Given the description of an element on the screen output the (x, y) to click on. 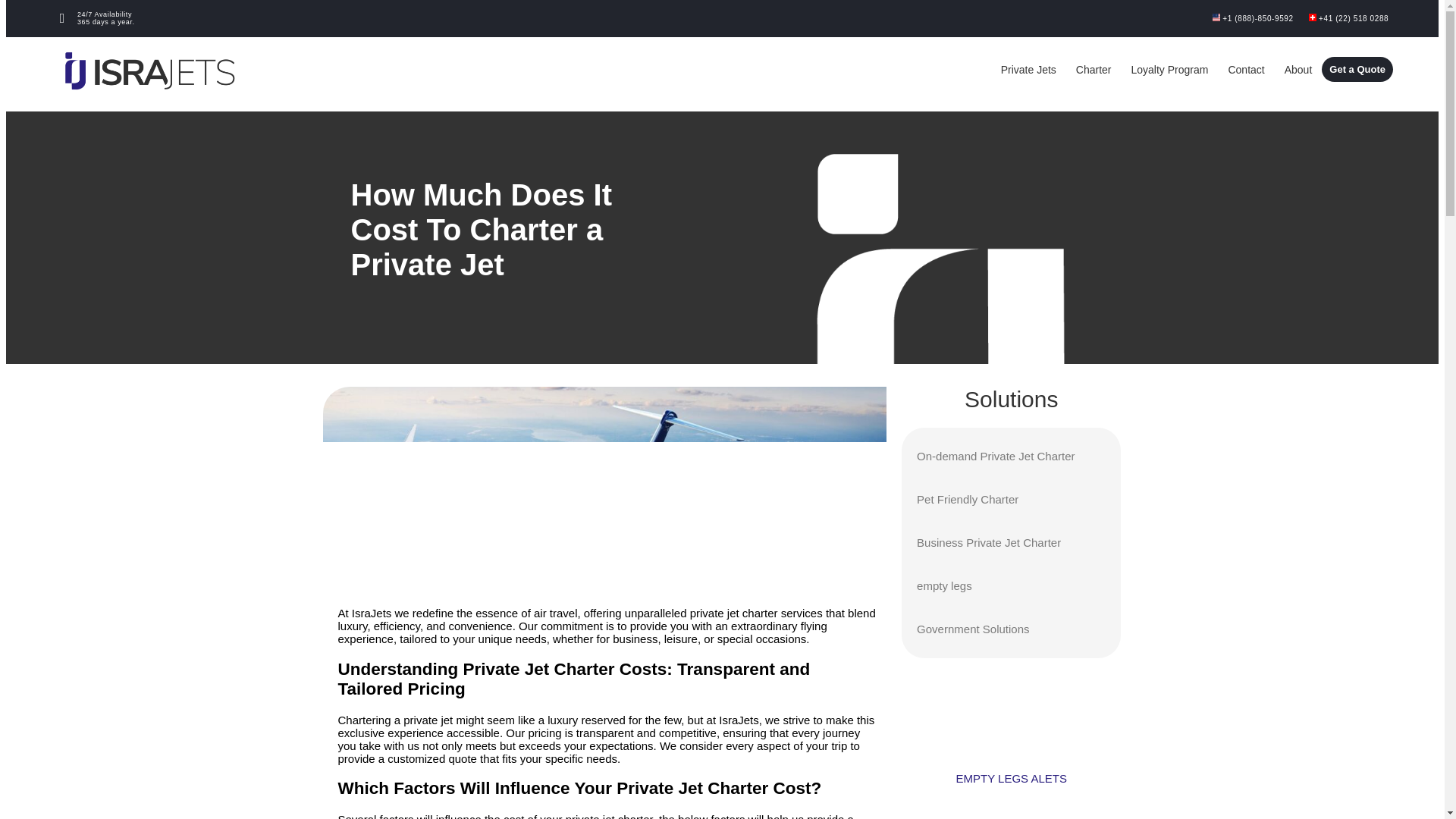
Business Private Jet Charter (1011, 542)
On-demand Private Jet Charter (1011, 456)
Contact (1245, 69)
empty legs (1011, 585)
Private Jets (1028, 69)
Get a Quote (1357, 68)
Pet Friendly Charter (1011, 499)
About (1298, 69)
Loyalty Program (1169, 69)
Government Solutions (1011, 629)
